Given the description of an element on the screen output the (x, y) to click on. 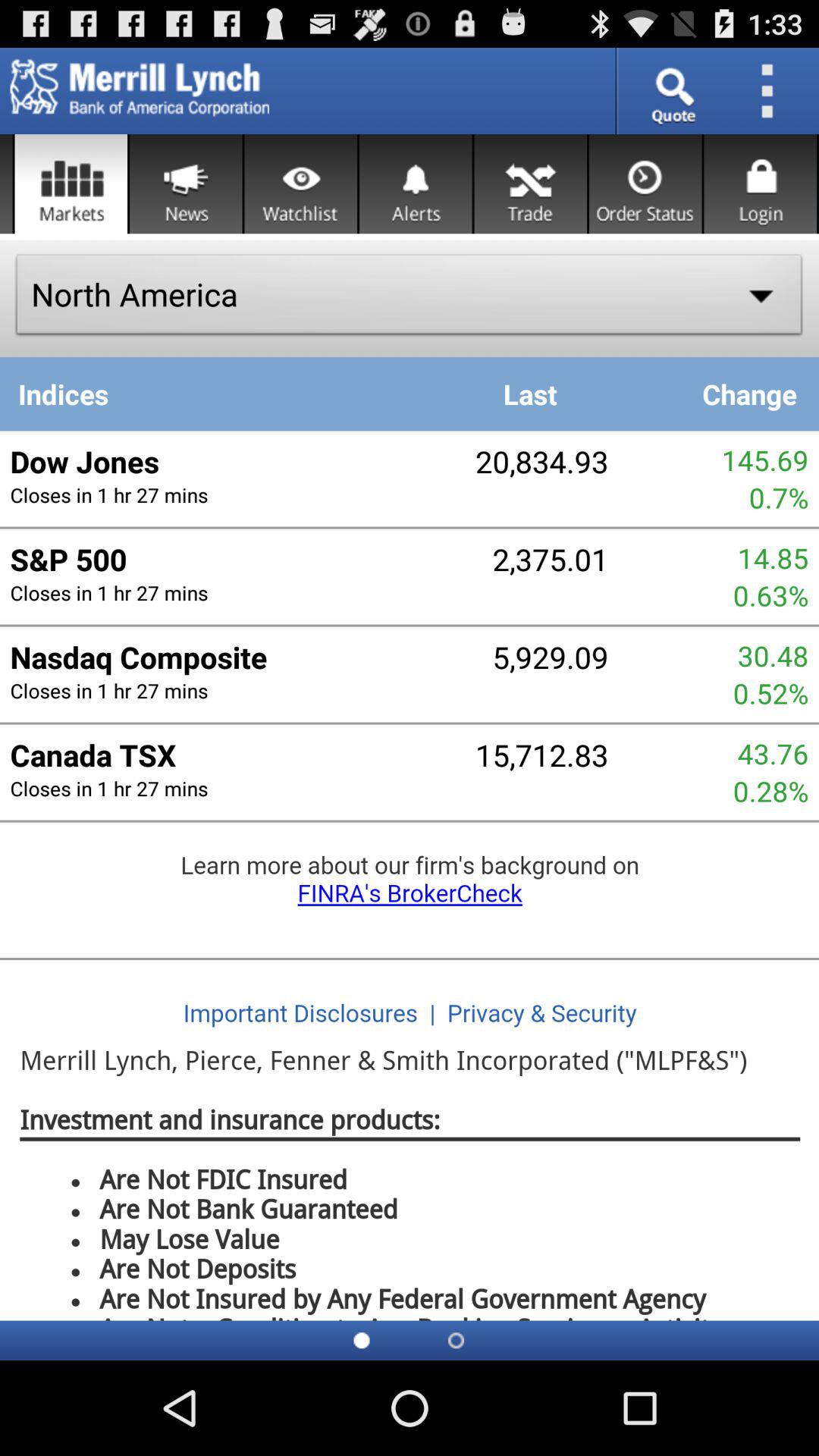
options (772, 90)
